Given the description of an element on the screen output the (x, y) to click on. 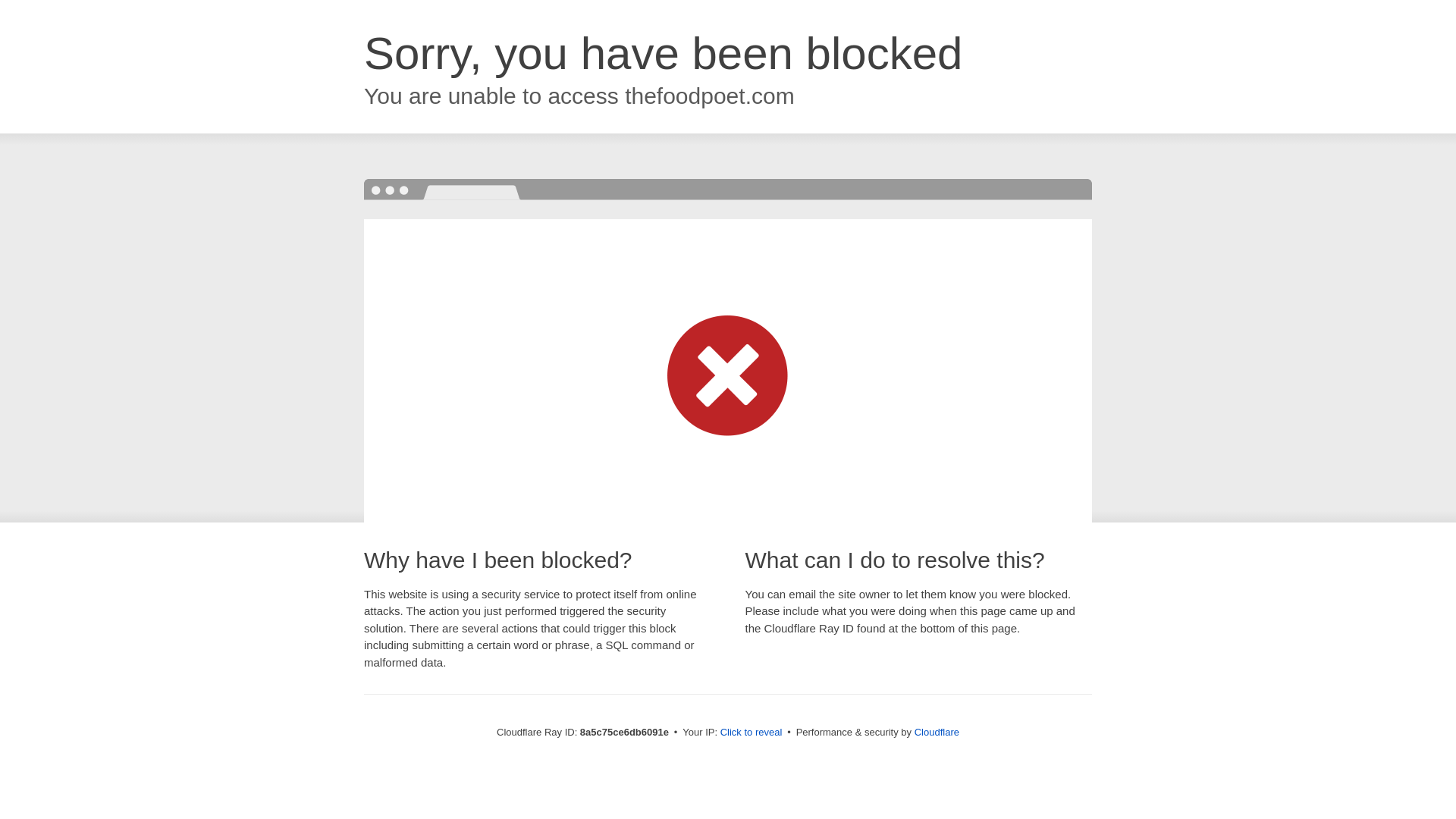
Cloudflare (936, 731)
Click to reveal (751, 732)
